Given the description of an element on the screen output the (x, y) to click on. 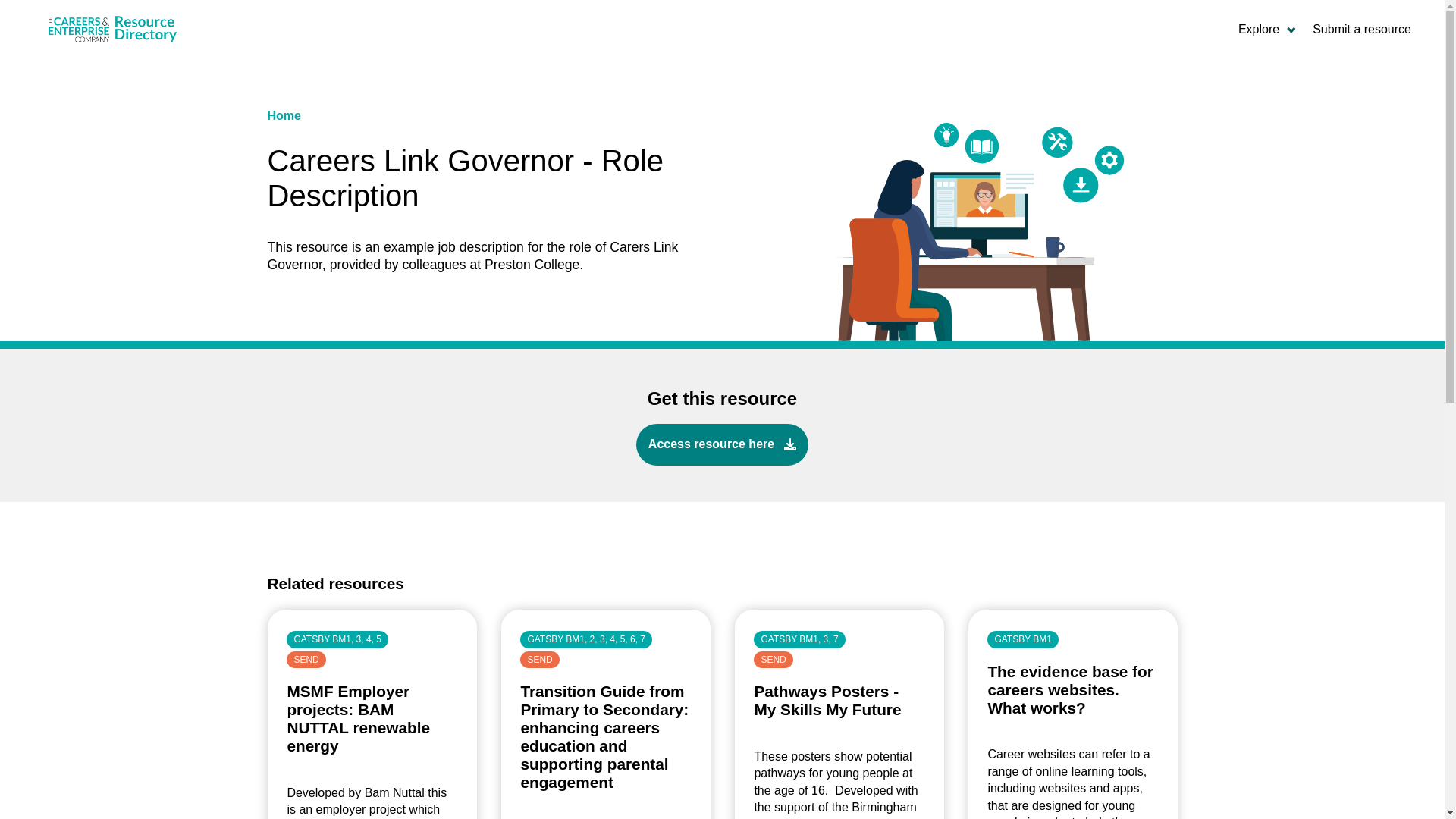
Submit a resource (1362, 29)
Share to Linkedin (721, 538)
Home (282, 115)
Share to Email (751, 538)
The evidence base for careers websites. What works? (1070, 689)
MSMF Employer projects: BAM NUTTAL renewable energy (357, 718)
Pathways Posters - My Skills My Future (827, 700)
Share to X (691, 538)
Explore (1265, 29)
Access resource here (722, 444)
